Given the description of an element on the screen output the (x, y) to click on. 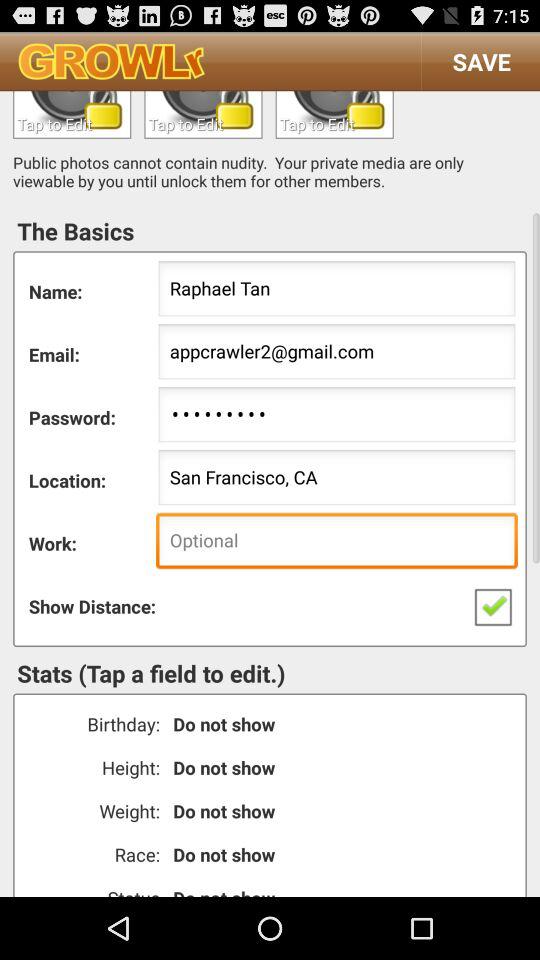
add text to profile workplace (336, 542)
